Given the description of an element on the screen output the (x, y) to click on. 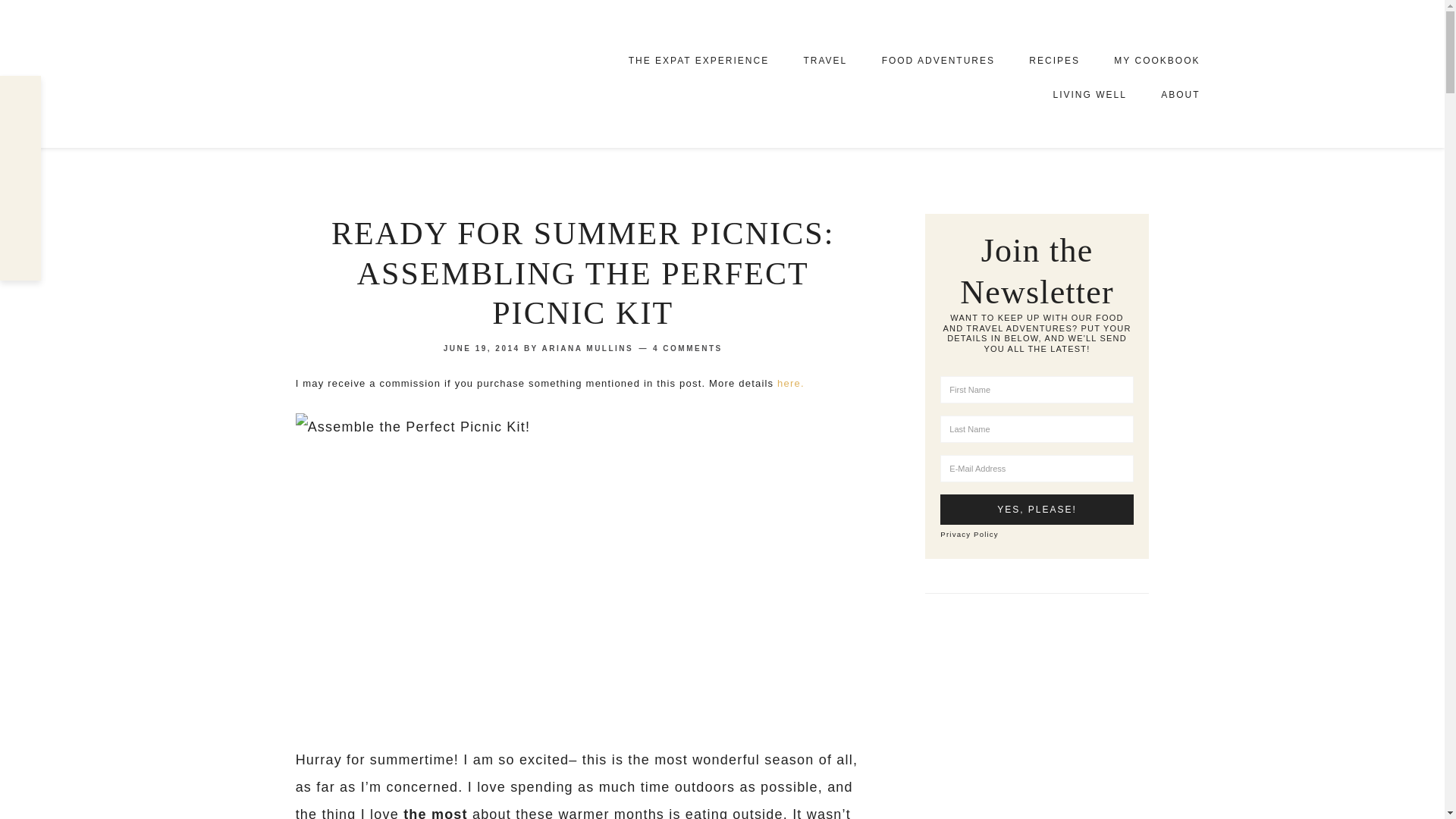
Yes, Please! (1036, 509)
TRAVEL (824, 60)
AND HERE WE ARE (380, 73)
LIVING WELL (1088, 94)
MY COOKBOOK (1156, 58)
RECIPES (1053, 60)
FOOD ADVENTURES (938, 60)
THE EXPAT EXPERIENCE (698, 60)
